Given the description of an element on the screen output the (x, y) to click on. 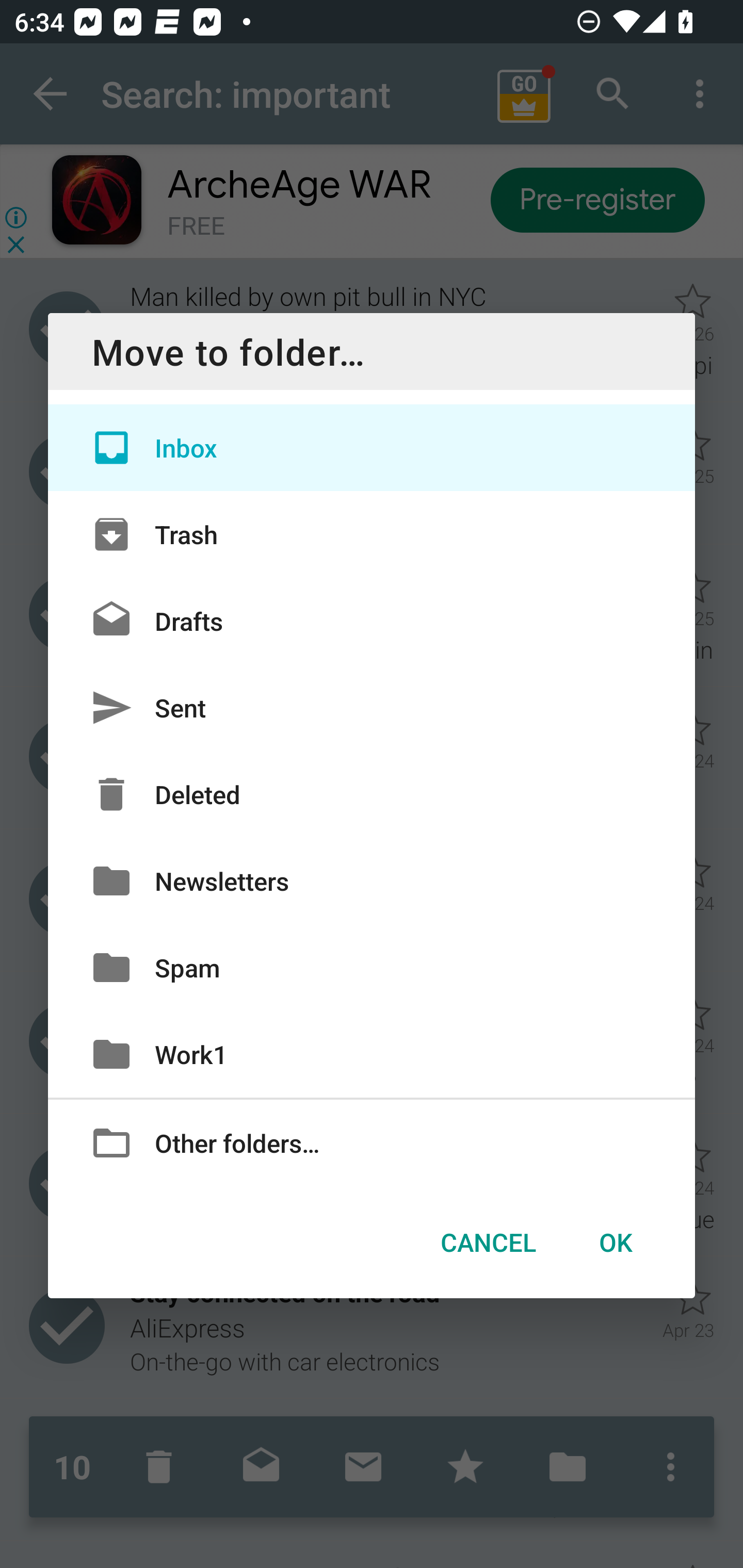
Inbox (371, 447)
Trash (371, 533)
Drafts (371, 620)
Sent (371, 707)
Deleted (371, 794)
Newsletters (371, 880)
Spam (371, 967)
Work1 (371, 1054)
Other folders… (371, 1141)
CANCEL (488, 1241)
OK (615, 1241)
